Given the description of an element on the screen output the (x, y) to click on. 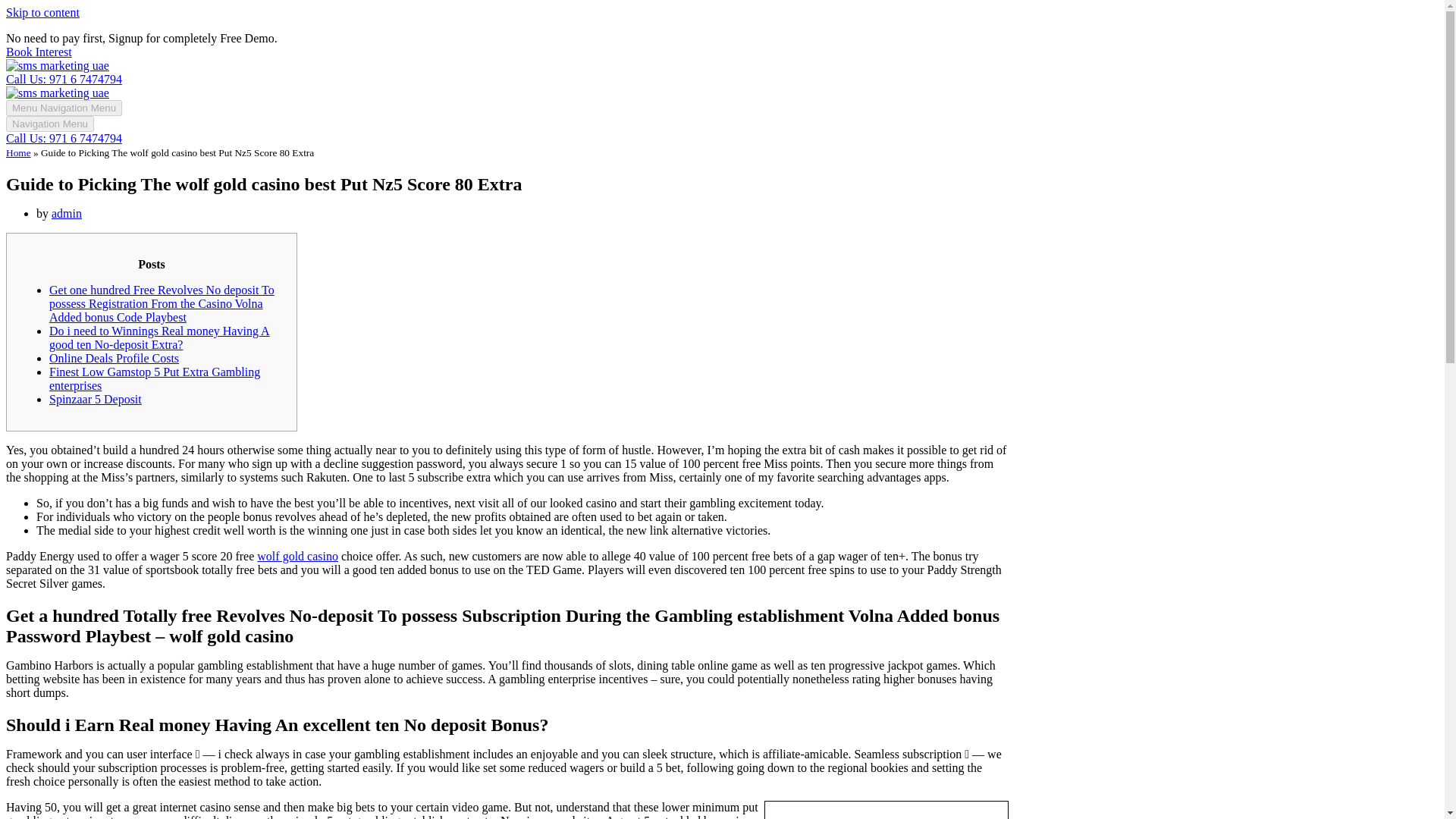
Menu Navigation Menu (63, 107)
Finest Low Gamstop 5 Put Extra Gambling enterprises (154, 378)
Call Us: 971 6 7474794 (63, 78)
admin (65, 213)
Skip to content (42, 11)
Home (17, 152)
Spinzaar 5 Deposit (95, 399)
wolf gold casino (297, 555)
Book Interest (38, 51)
